Given the description of an element on the screen output the (x, y) to click on. 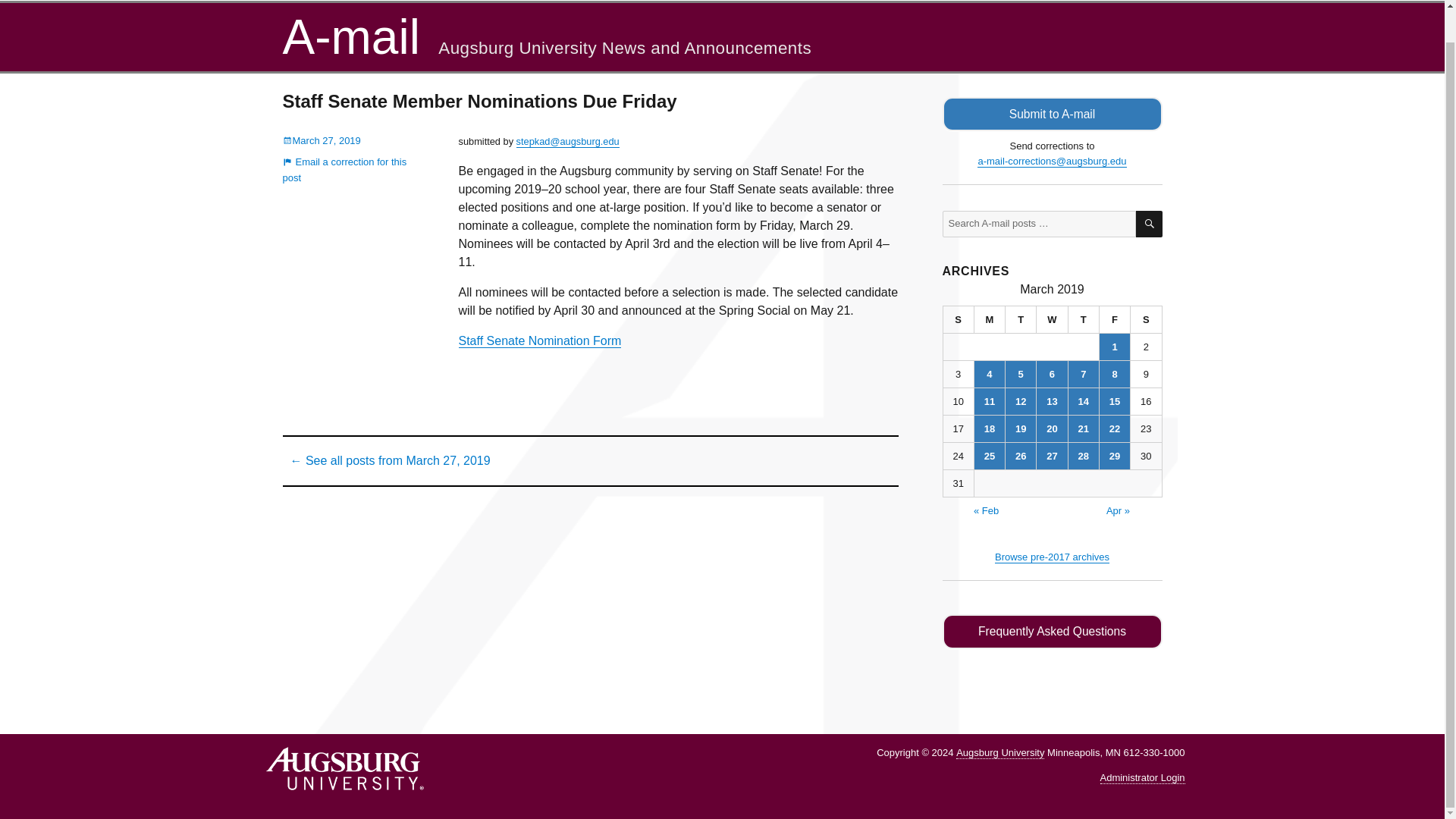
Thursday (1083, 319)
13 (1051, 401)
Frequently Asked Questions (1051, 631)
Browse pre-2017 archives (1051, 556)
26 (1020, 456)
Wednesday (1051, 319)
Monday (990, 319)
25 (989, 456)
5 (1020, 374)
28 (1083, 456)
